Given the description of an element on the screen output the (x, y) to click on. 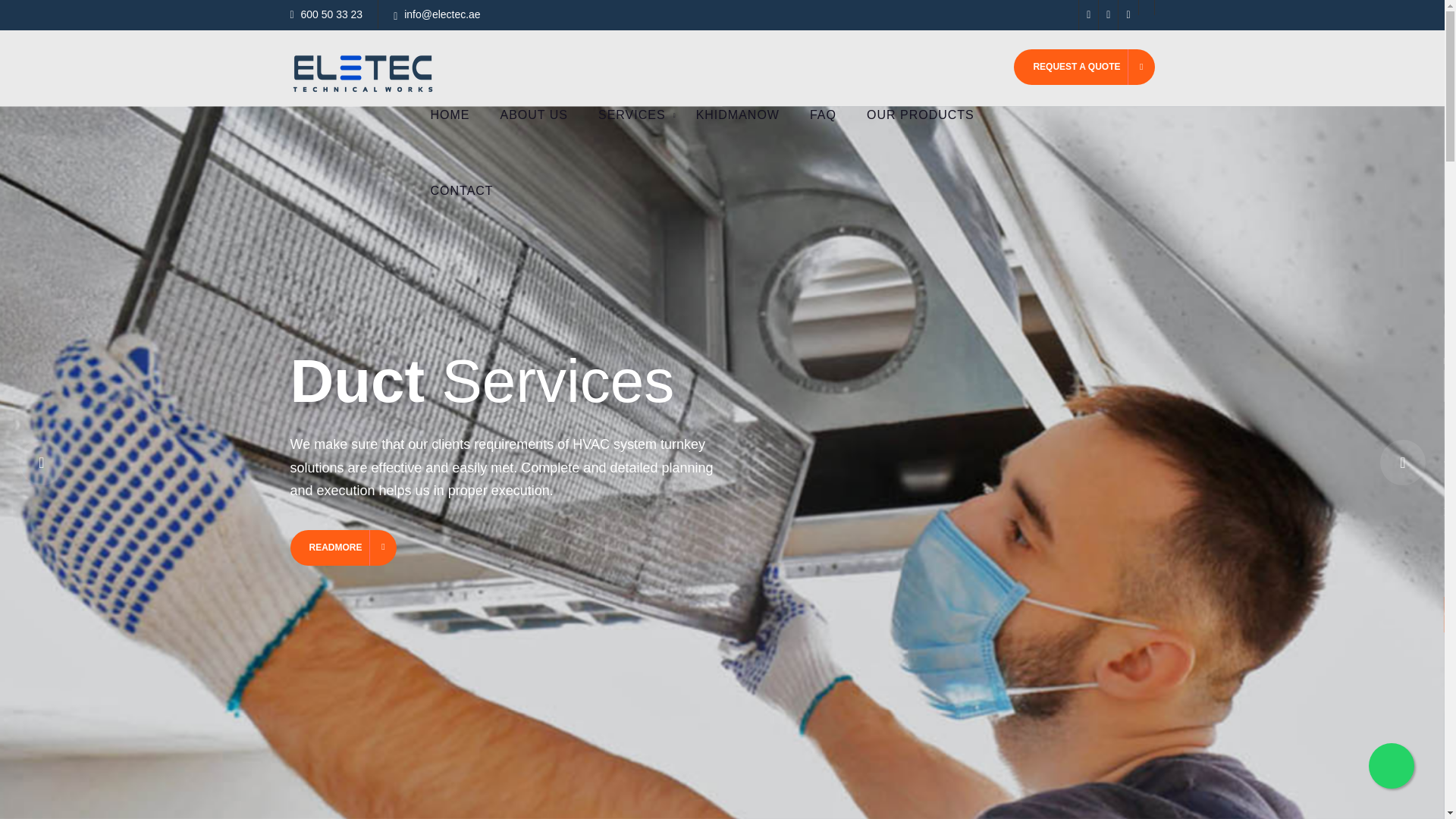
ABOUT US (533, 114)
KHIDMANOW (737, 114)
REQUEST A QUOTE (1083, 67)
CONTACT (461, 191)
HOME (449, 114)
SERVICES (632, 114)
READMORE (342, 547)
OUR PRODUCTS (920, 114)
